Given the description of an element on the screen output the (x, y) to click on. 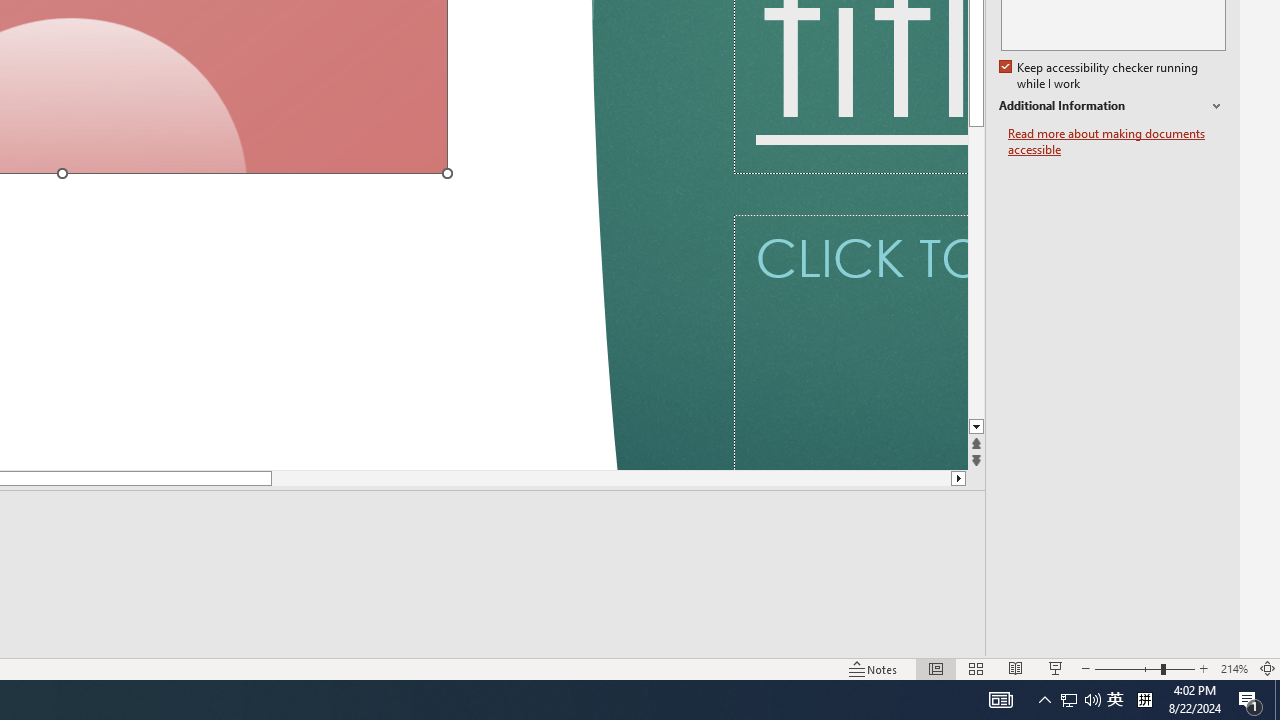
Zoom 214% (1234, 668)
